Given the description of an element on the screen output the (x, y) to click on. 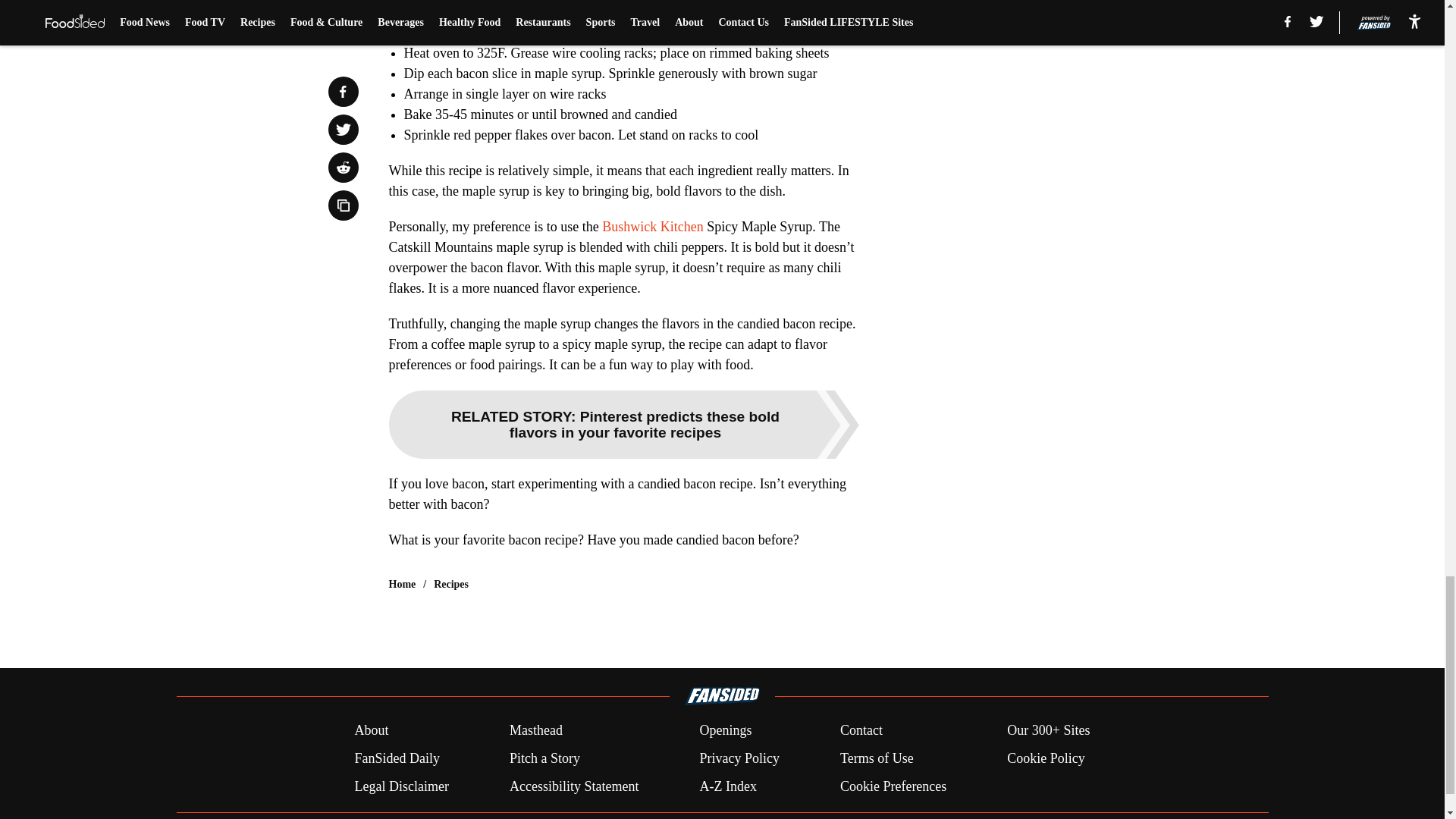
Contact (861, 730)
Terms of Use (877, 758)
Recipes (450, 584)
About (370, 730)
Masthead (535, 730)
FanSided Daily (396, 758)
Openings (724, 730)
Privacy Policy (738, 758)
Home (401, 584)
Bushwick Kitchen (652, 226)
Pitch a Story (544, 758)
